Given the description of an element on the screen output the (x, y) to click on. 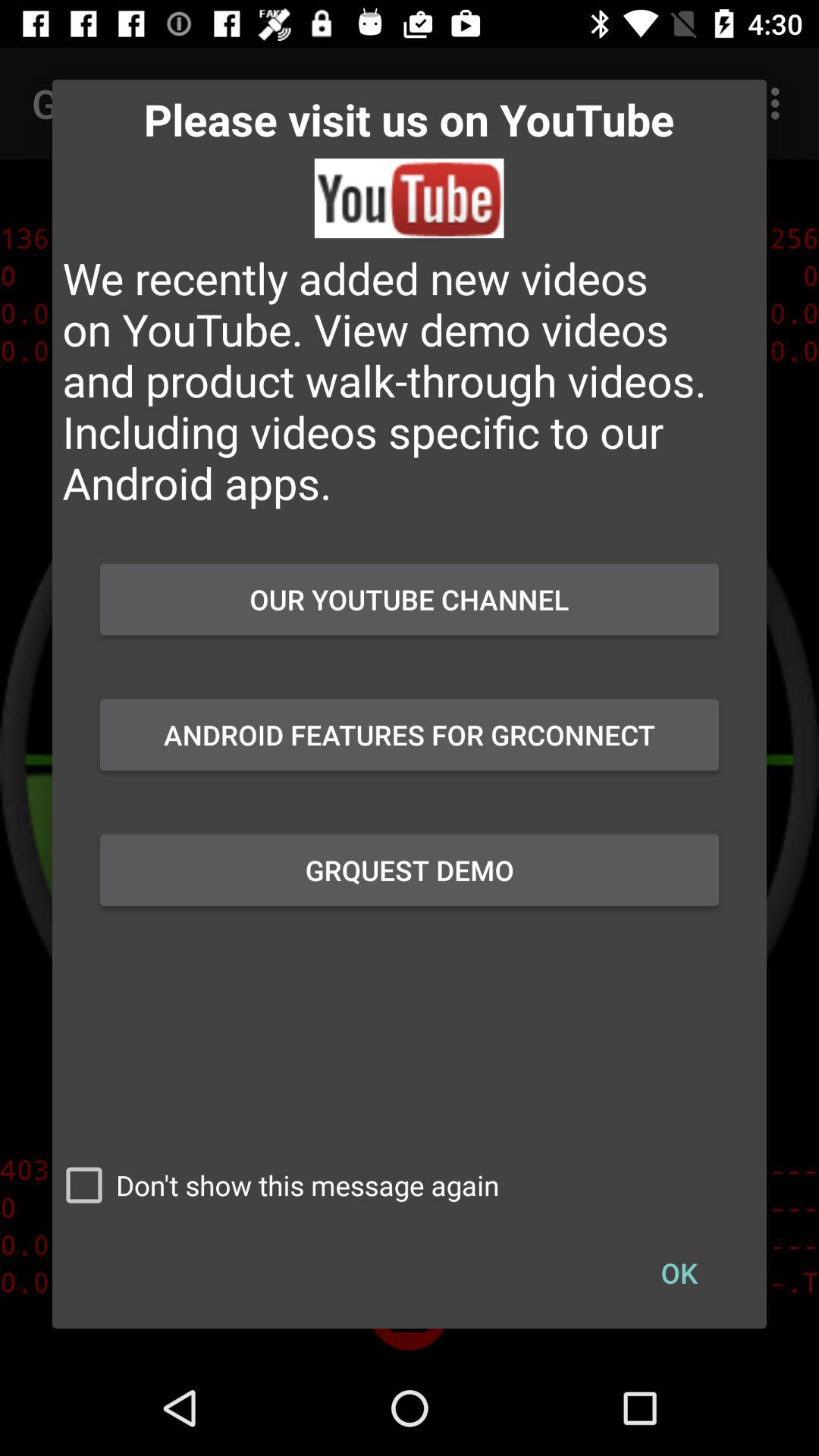
choose the icon below the android features for icon (409, 869)
